Given the description of an element on the screen output the (x, y) to click on. 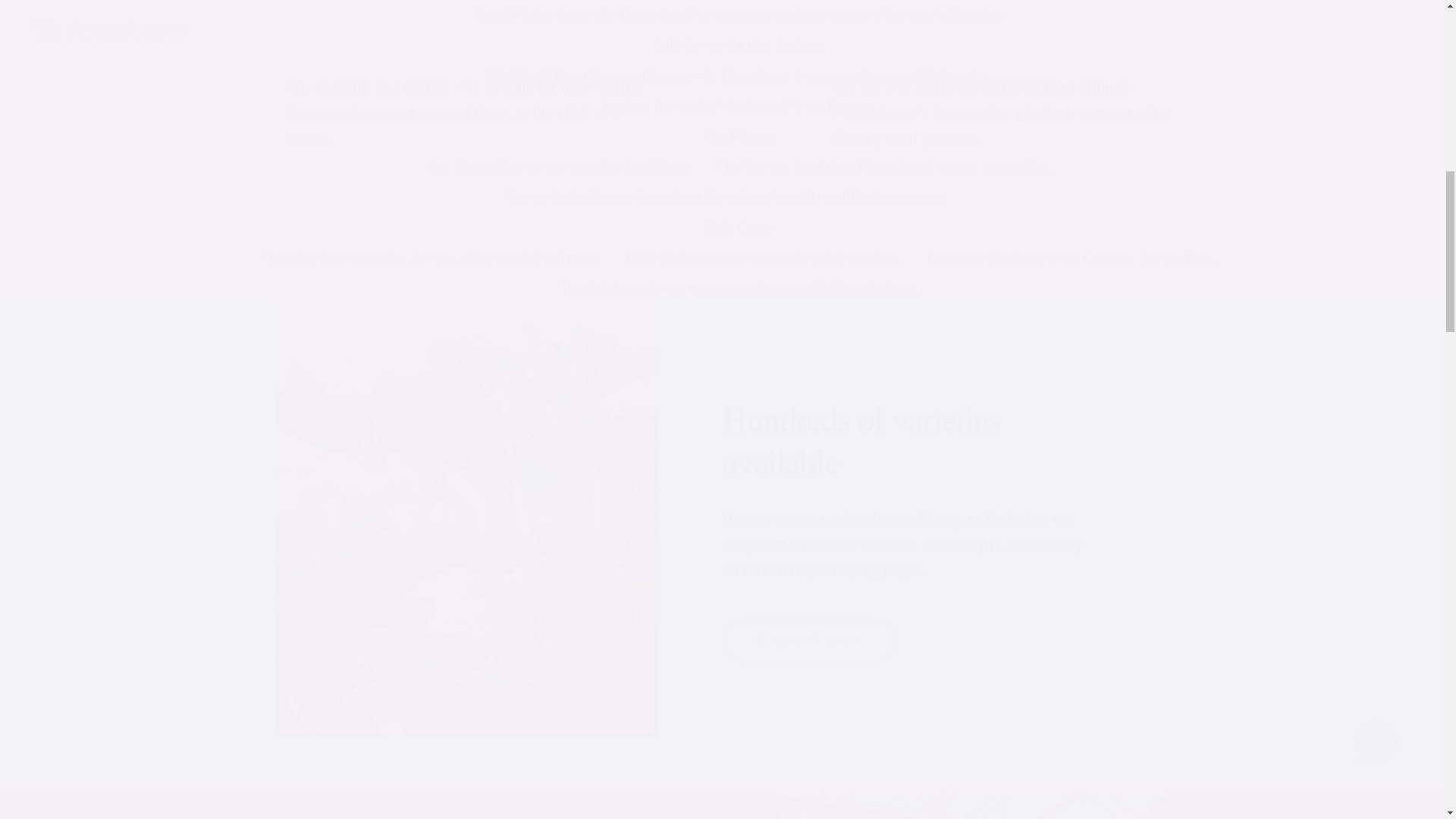
Buy flowers now (373, 203)
Browse Flowers  (809, 640)
Start bidding (919, 203)
